Given the description of an element on the screen output the (x, y) to click on. 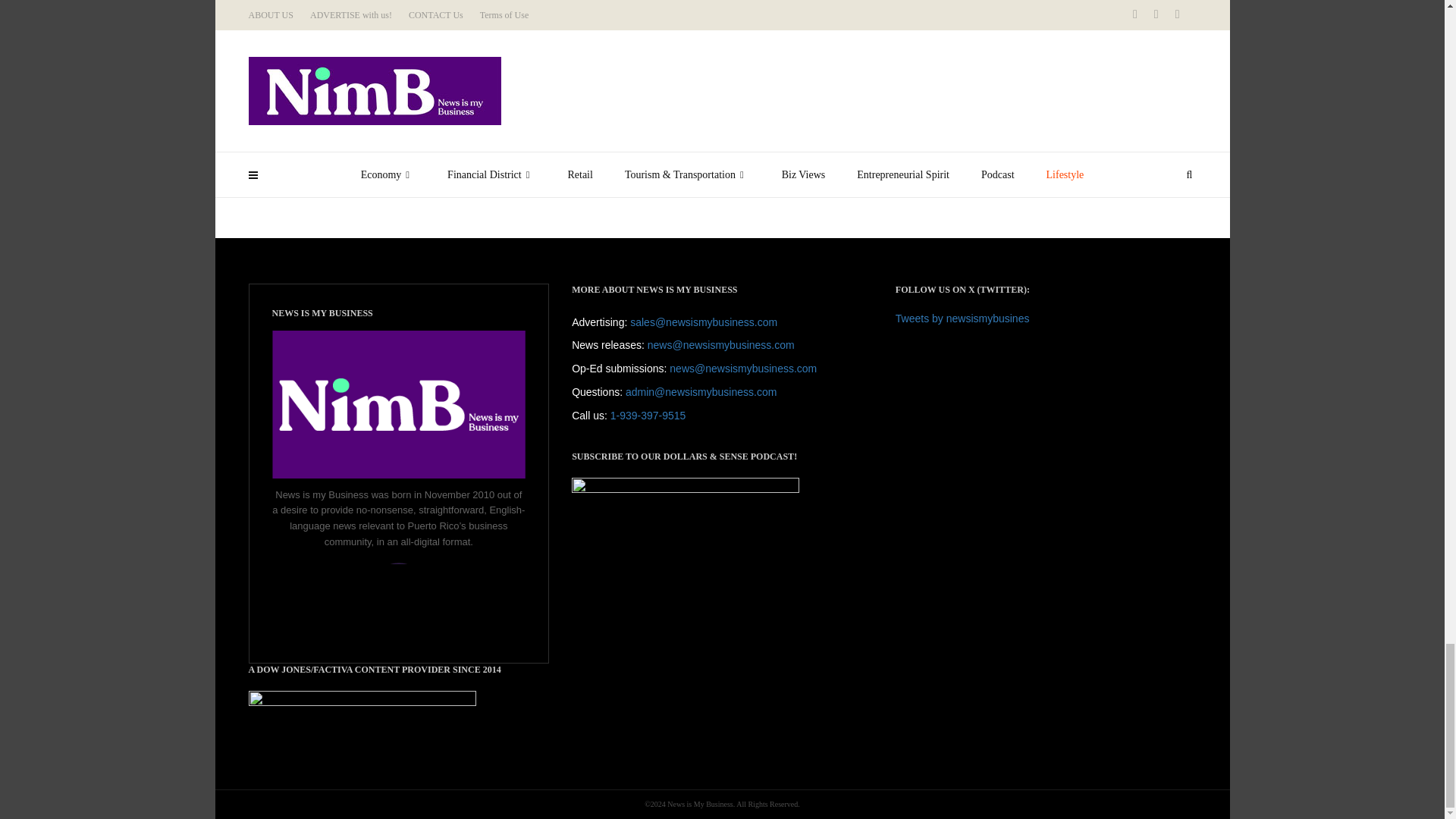
yes (253, 138)
Post Comment (309, 162)
